Given the description of an element on the screen output the (x, y) to click on. 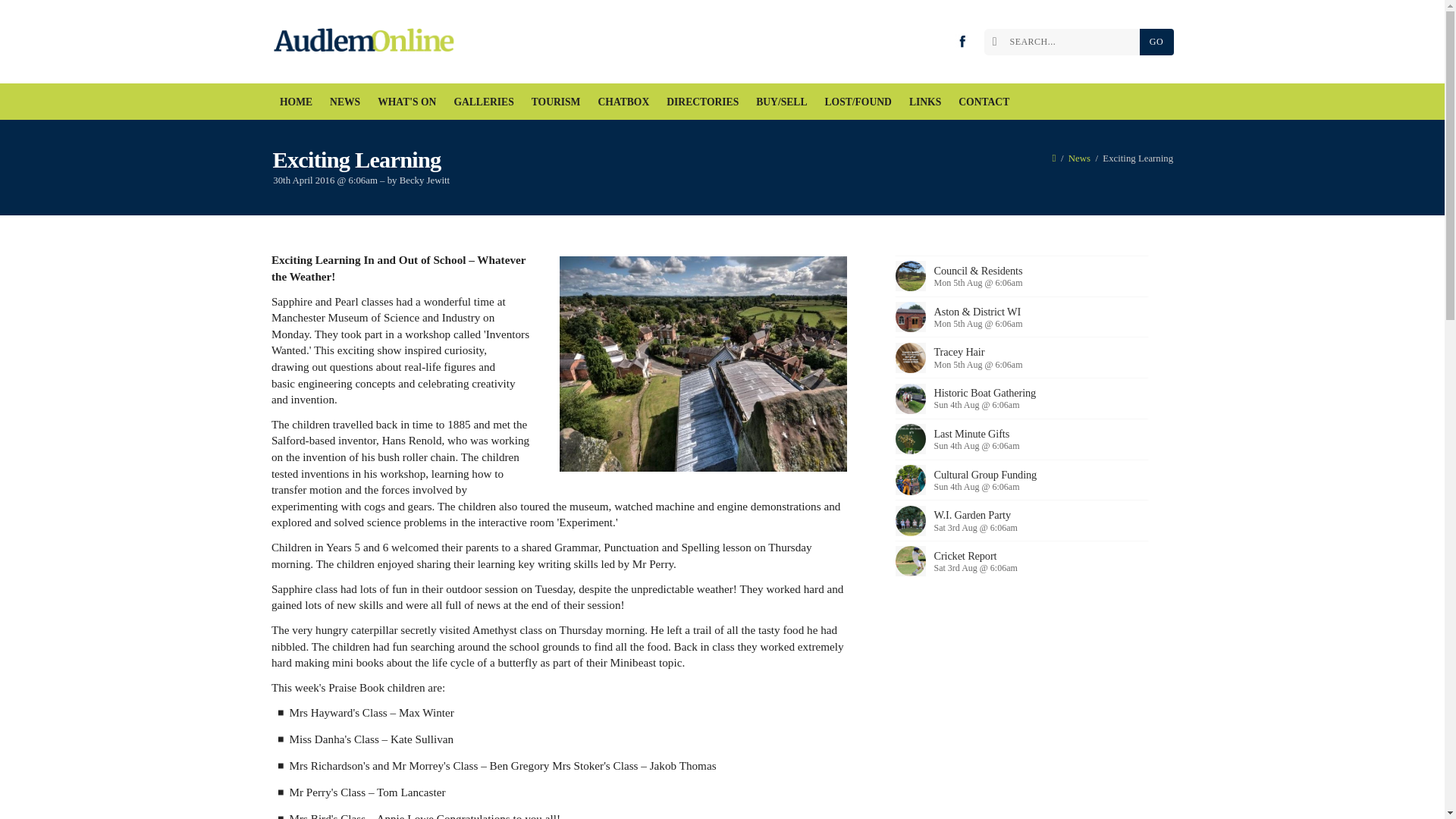
Visit our Facebook Page (962, 40)
GO (1155, 41)
CHATBOX (623, 101)
AudlemOnline Home (366, 41)
NEWS (345, 101)
SEARCH... (1065, 41)
TOURISM (555, 101)
GALLERIES (483, 101)
News (1079, 158)
